Given the description of an element on the screen output the (x, y) to click on. 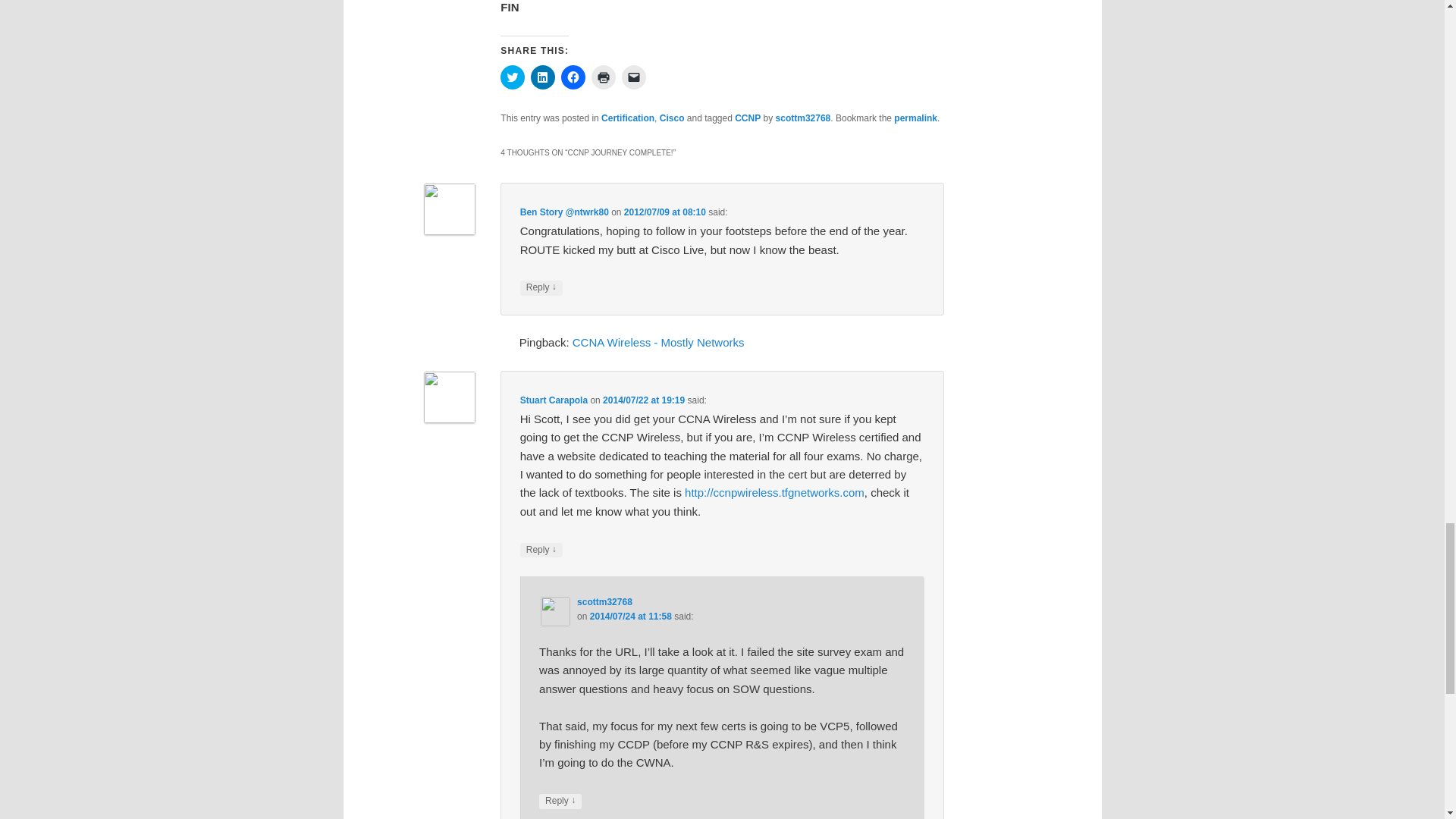
Stuart Carapola (553, 399)
CCNA Wireless - Mostly Networks (658, 341)
permalink (915, 118)
scottm32768 (803, 118)
Click to share on Facebook (572, 77)
Cisco (671, 118)
Click to share on Twitter (512, 77)
Click to email a link to a friend (633, 77)
CCNP (747, 118)
Certification (627, 118)
Click to print (603, 77)
Permalink to CCNP Journey Complete! (915, 118)
Click to share on LinkedIn (542, 77)
